Given the description of an element on the screen output the (x, y) to click on. 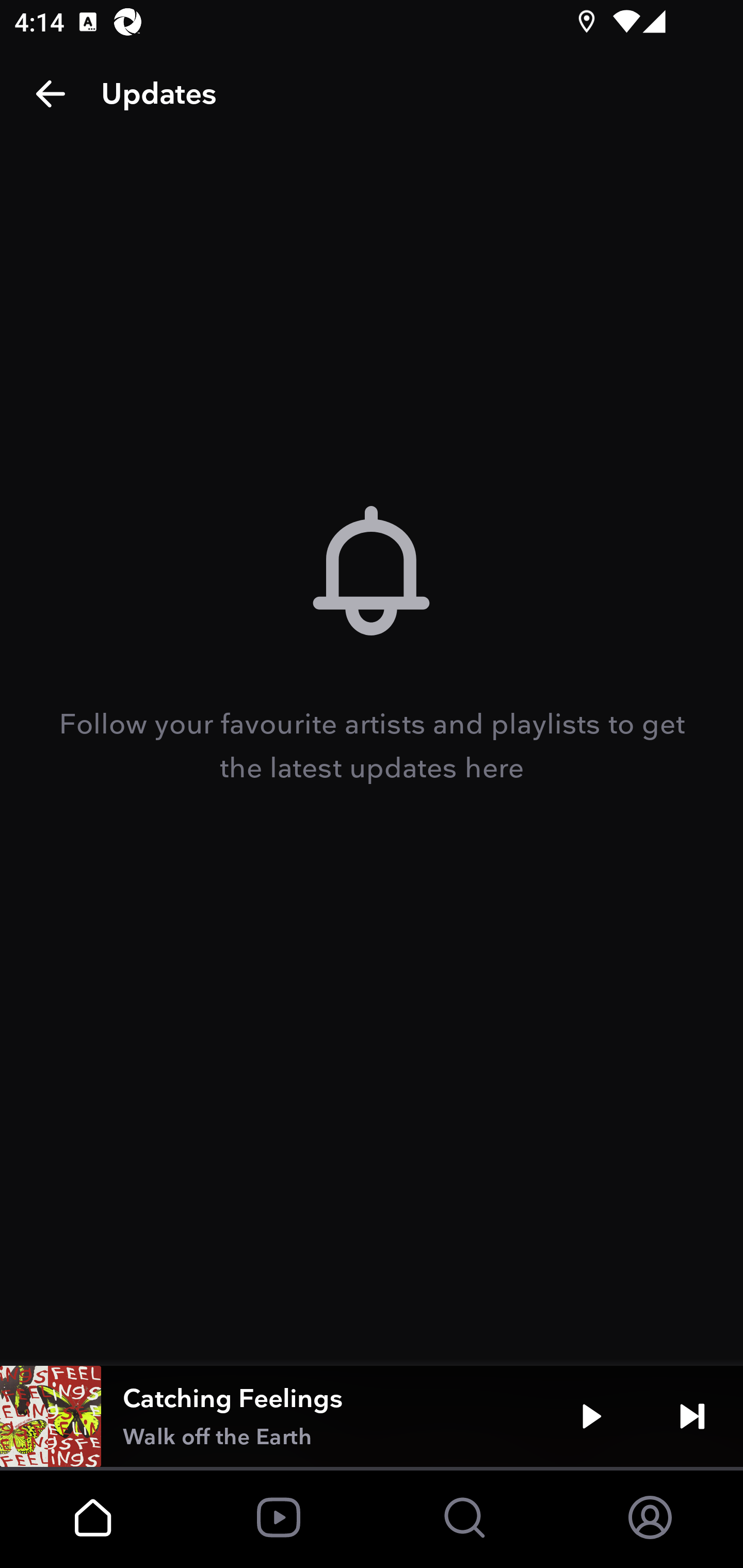
Catching Feelings Walk off the Earth Play (371, 1416)
Play (590, 1416)
